Given the description of an element on the screen output the (x, y) to click on. 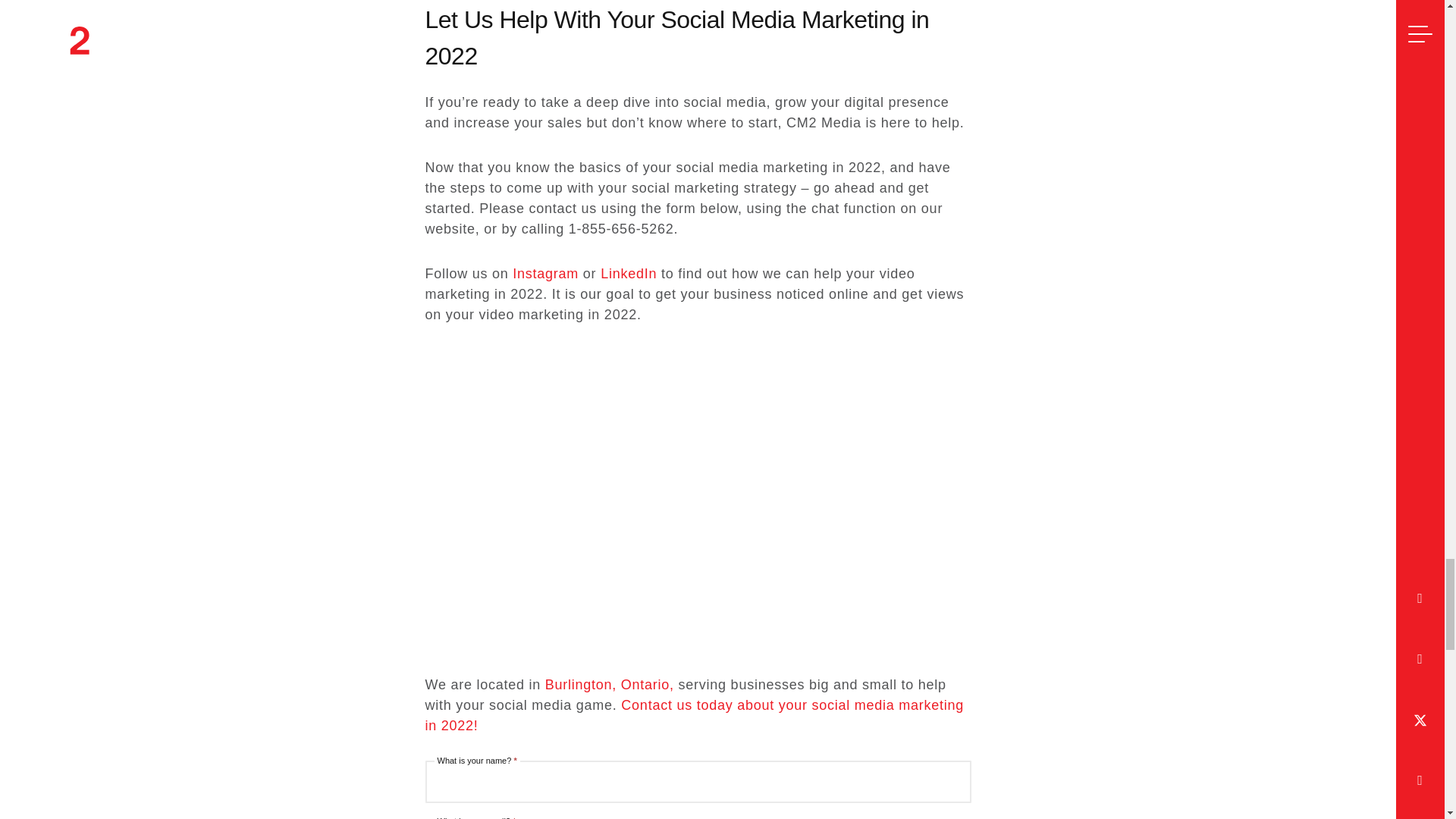
Instagram (545, 273)
LinkedIn (627, 273)
Burlington, Ontario, (609, 684)
Contact us today about your social media marketing in 2022! (694, 715)
